Given the description of an element on the screen output the (x, y) to click on. 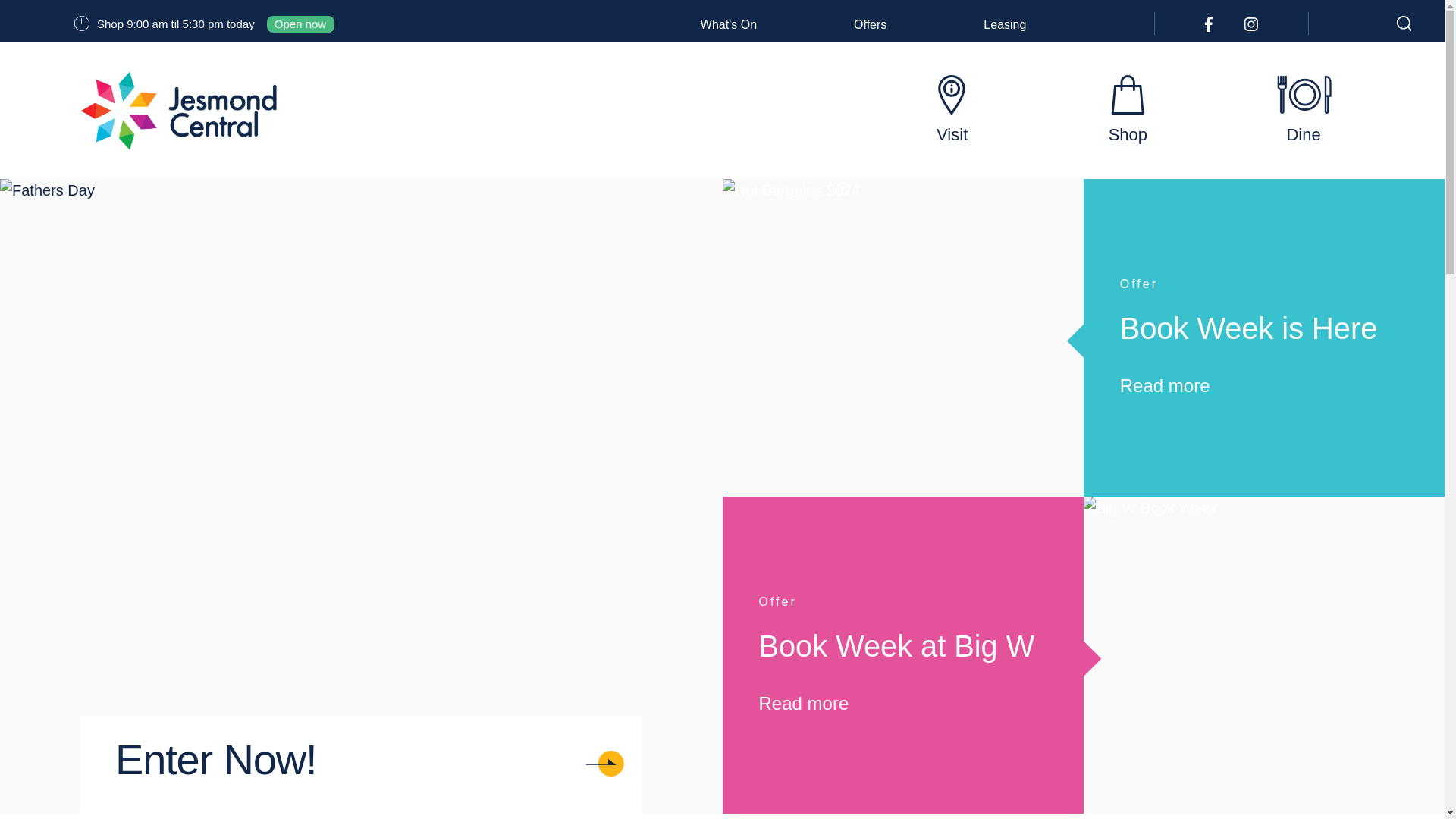
Book Week at Big W (895, 645)
Dine (1302, 110)
Offers (869, 24)
What's On (728, 24)
Search (1399, 27)
Book Week is Here (1248, 328)
Visit (951, 110)
Shop (1127, 110)
Leasing (1005, 24)
Read more (902, 703)
